Given the description of an element on the screen output the (x, y) to click on. 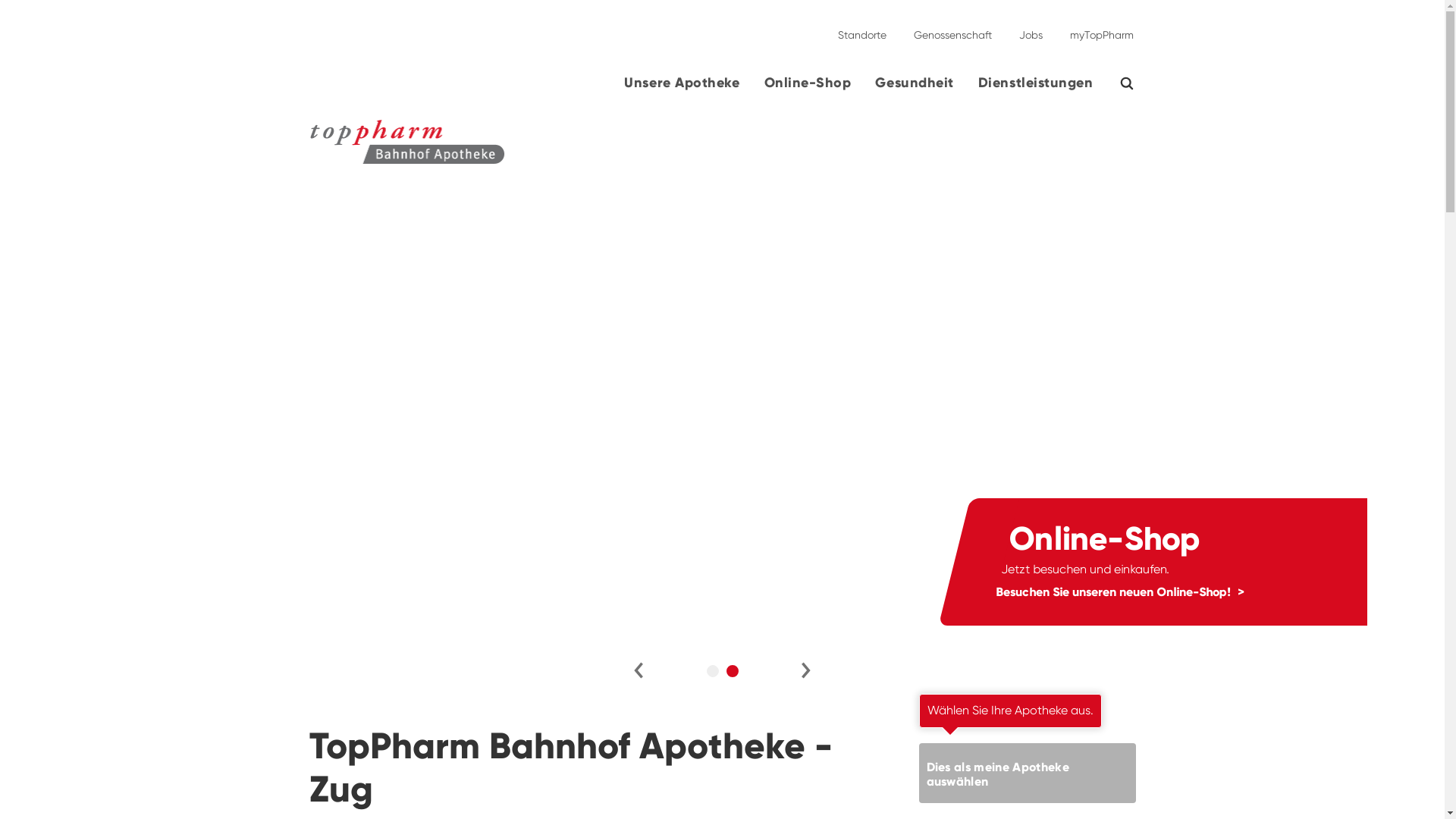
Gesundheit Element type: text (913, 88)
Standorte Element type: text (861, 29)
Online-Shop Element type: text (807, 88)
Dienstleistungen Element type: text (1035, 88)
myTopPharm Element type: text (1096, 29)
Jobs Element type: text (1030, 29)
Suche Element type: text (1135, 82)
TopPharm Bahnhof Apotheke - Zug Element type: text (253, 151)
Genossenschaft Element type: text (951, 29)
TopPharm Bahnhof Apotheke - Zug Element type: hover (407, 141)
Unsere Apotheke Element type: text (681, 88)
